Given the description of an element on the screen output the (x, y) to click on. 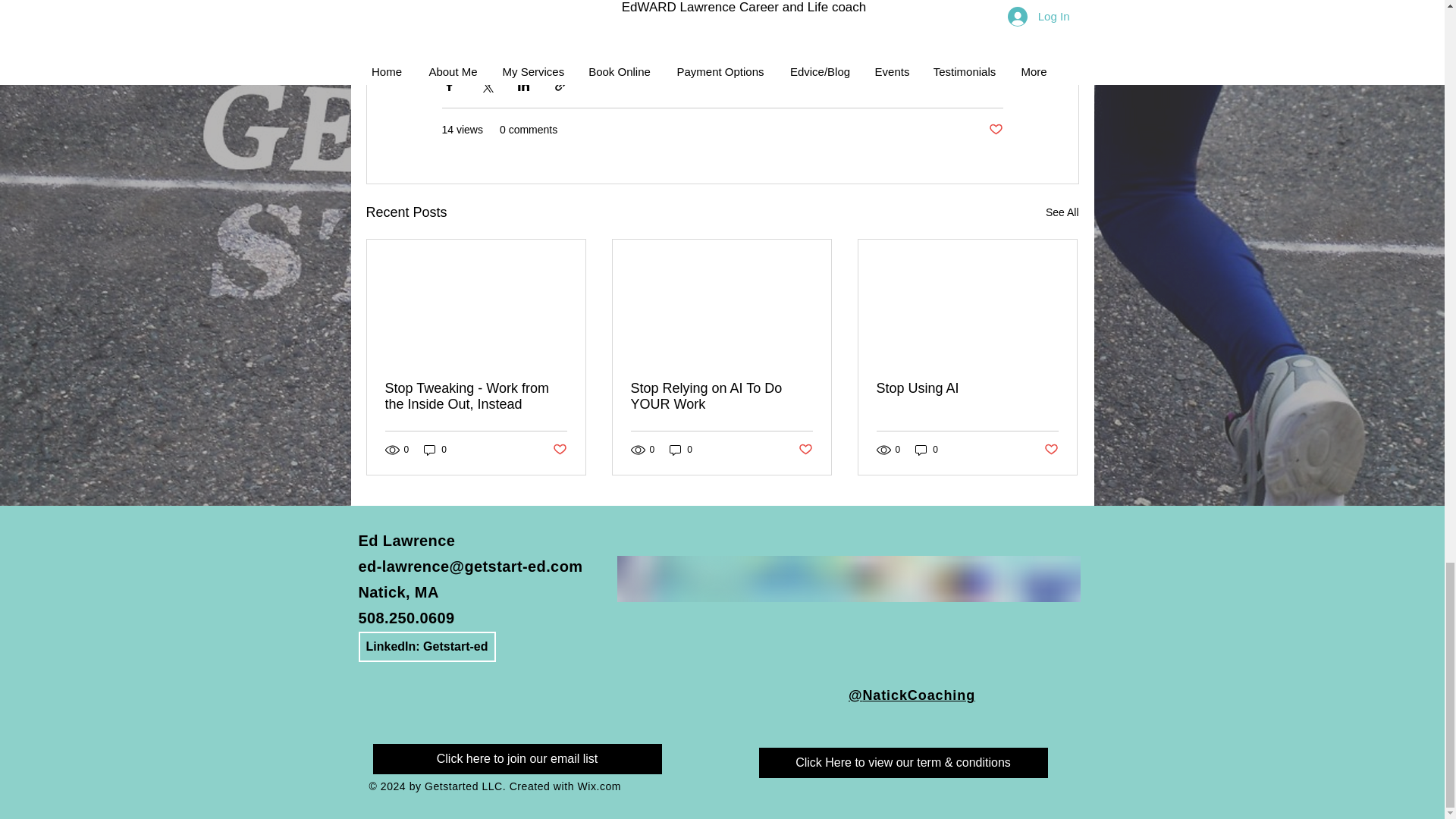
Post not marked as liked (558, 449)
See All (1061, 212)
0 (681, 450)
Stop Relying on AI To Do YOUR Work (721, 396)
Post not marked as liked (995, 130)
0 (435, 450)
Stop Tweaking - Work from the Inside Out, Instead (476, 396)
